Given the description of an element on the screen output the (x, y) to click on. 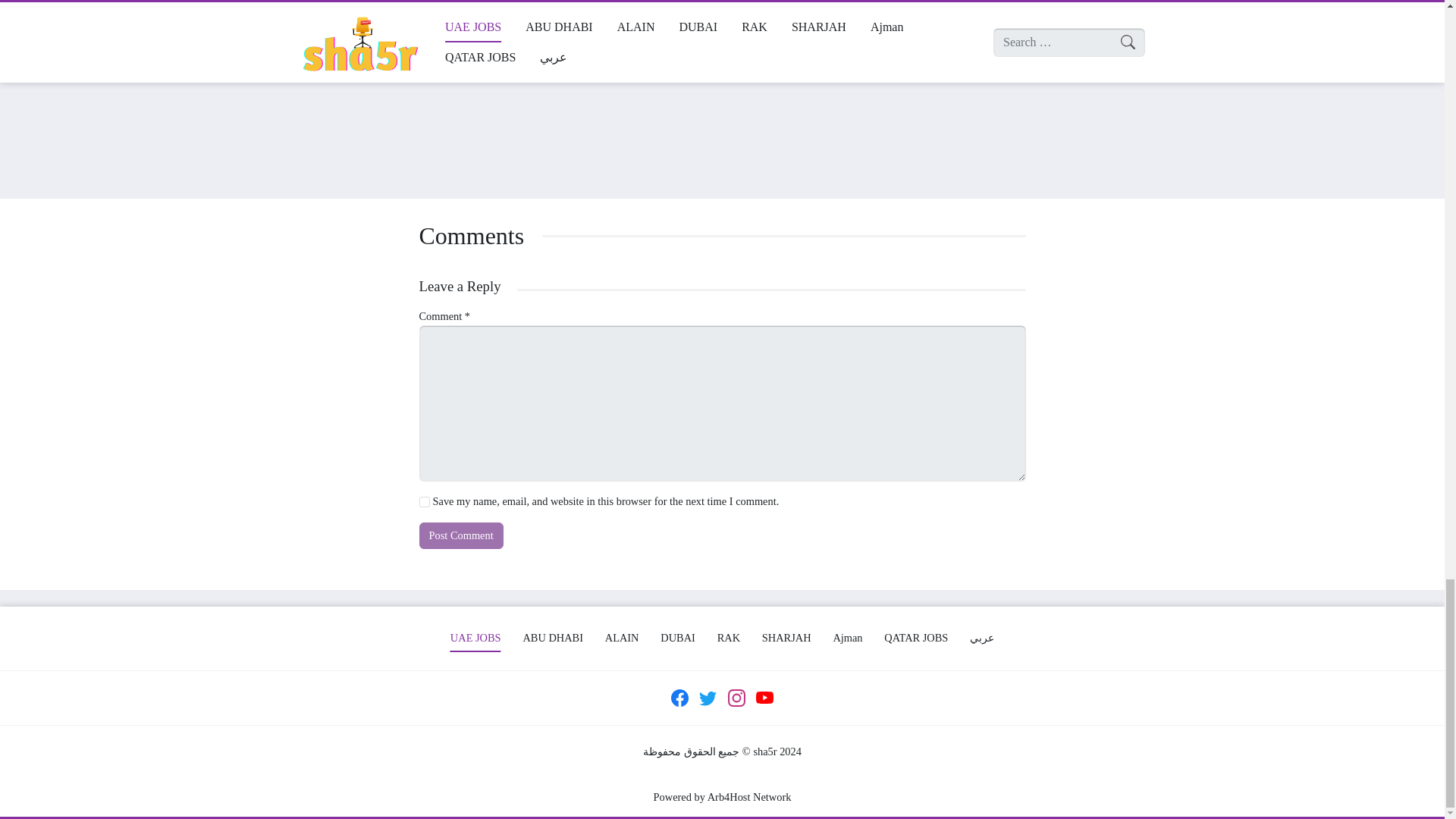
yes (424, 501)
Post Comment (460, 535)
